Given the description of an element on the screen output the (x, y) to click on. 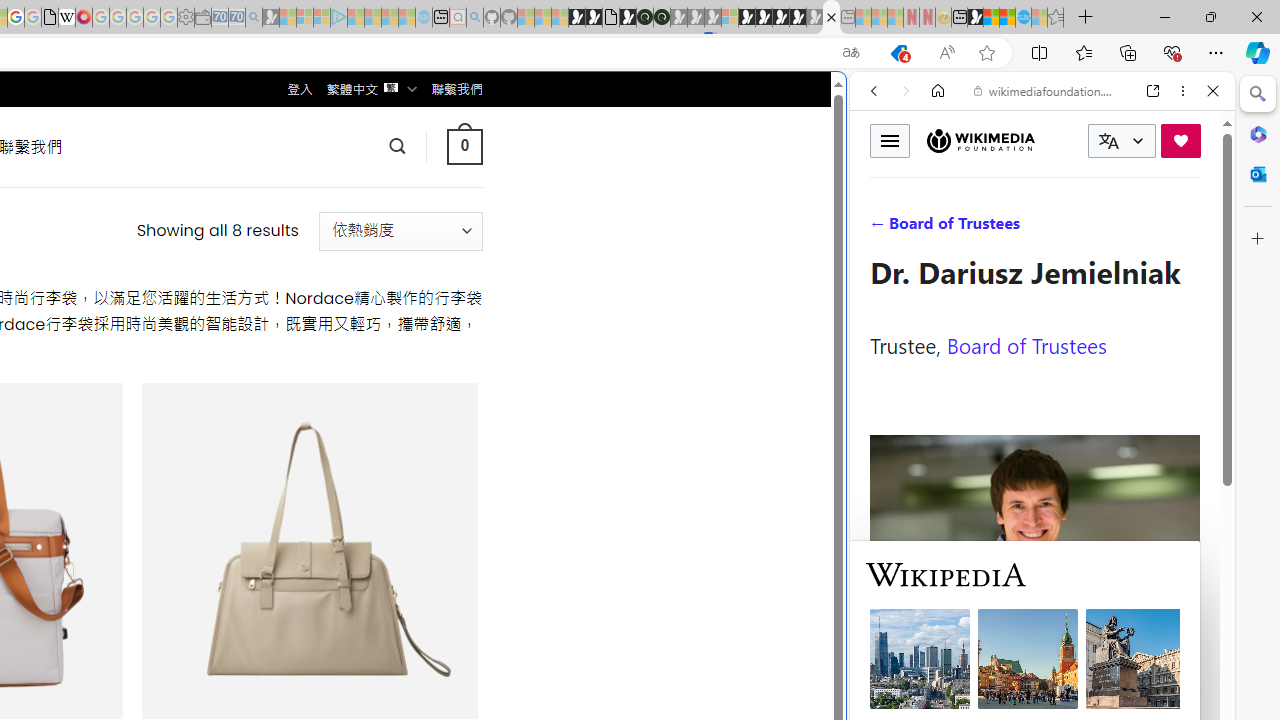
Play Cave FRVR in your browser | Games from Microsoft Start (343, 426)
  0   (464, 146)
Future Focus Report 2024 (661, 17)
Wiktionary (1034, 669)
Class: b_serphb (1190, 229)
Services - Maintenance | Sky Blue Bikes - Sky Blue Bikes (1023, 17)
